Given the description of an element on the screen output the (x, y) to click on. 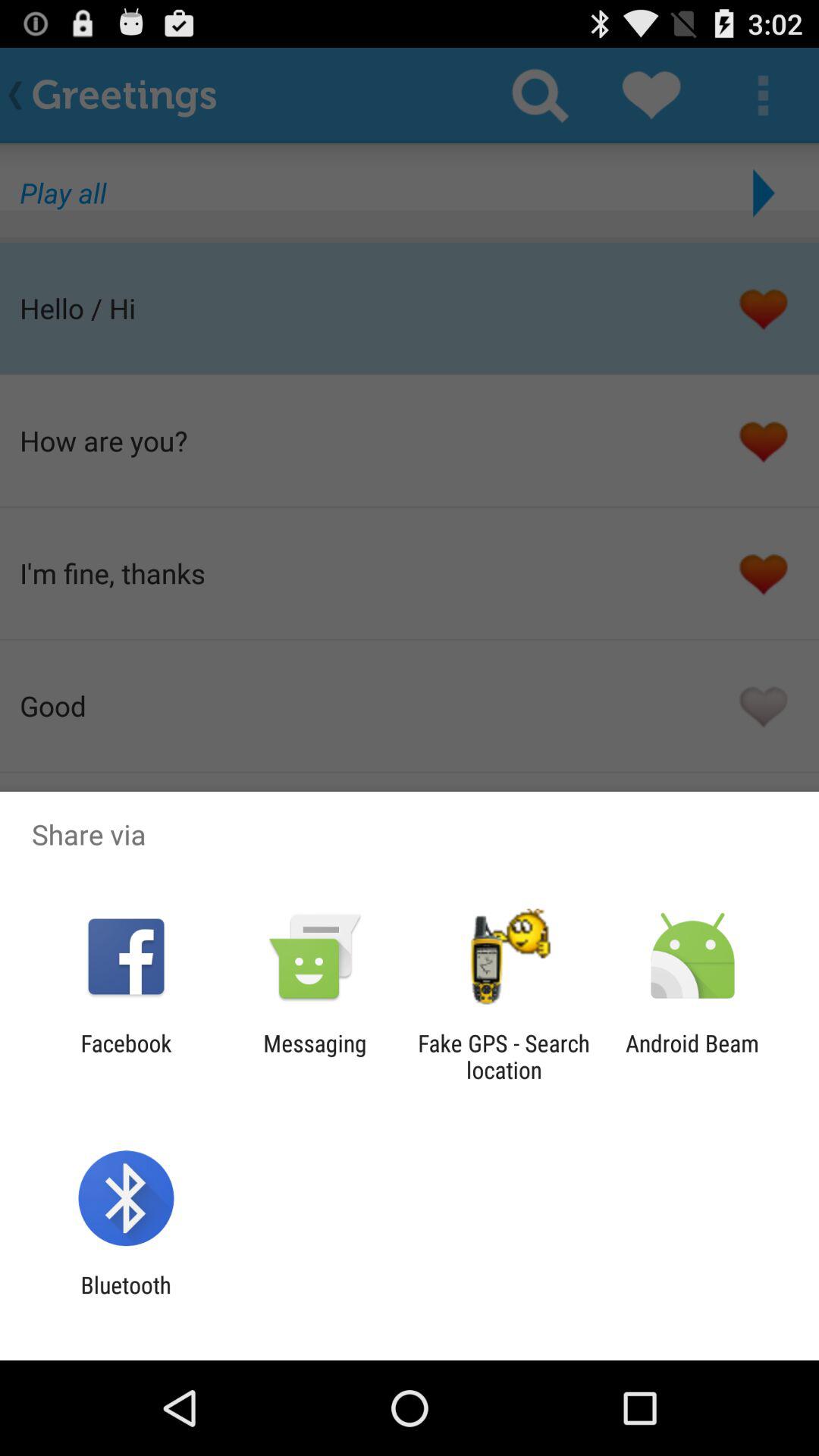
swipe until bluetooth app (125, 1298)
